Given the description of an element on the screen output the (x, y) to click on. 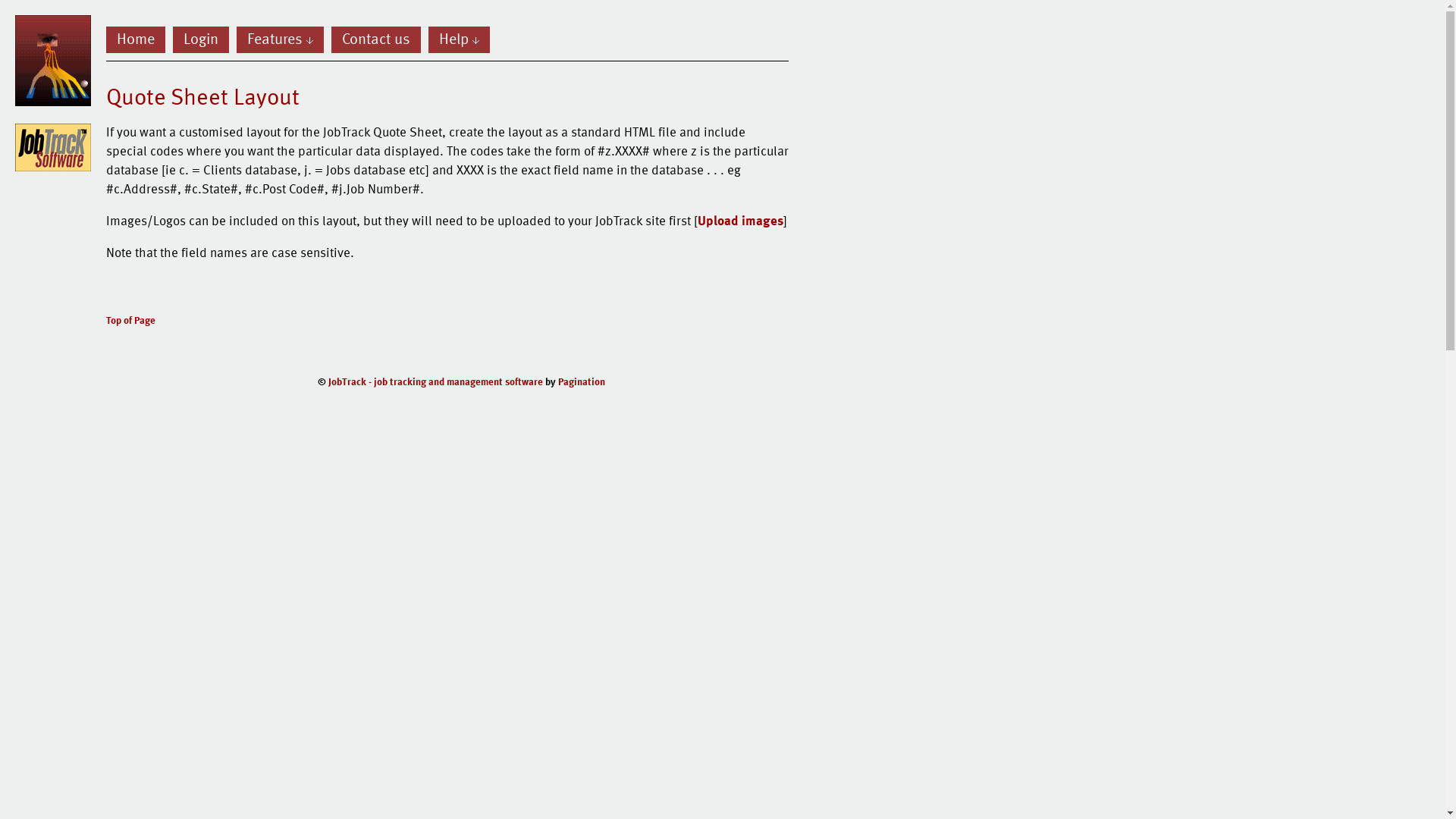
Top of Page Element type: text (130, 319)
JobTrack - job tracking and management software Element type: text (435, 381)
Pagination Element type: text (581, 381)
Upload images Element type: text (740, 219)
